Given the description of an element on the screen output the (x, y) to click on. 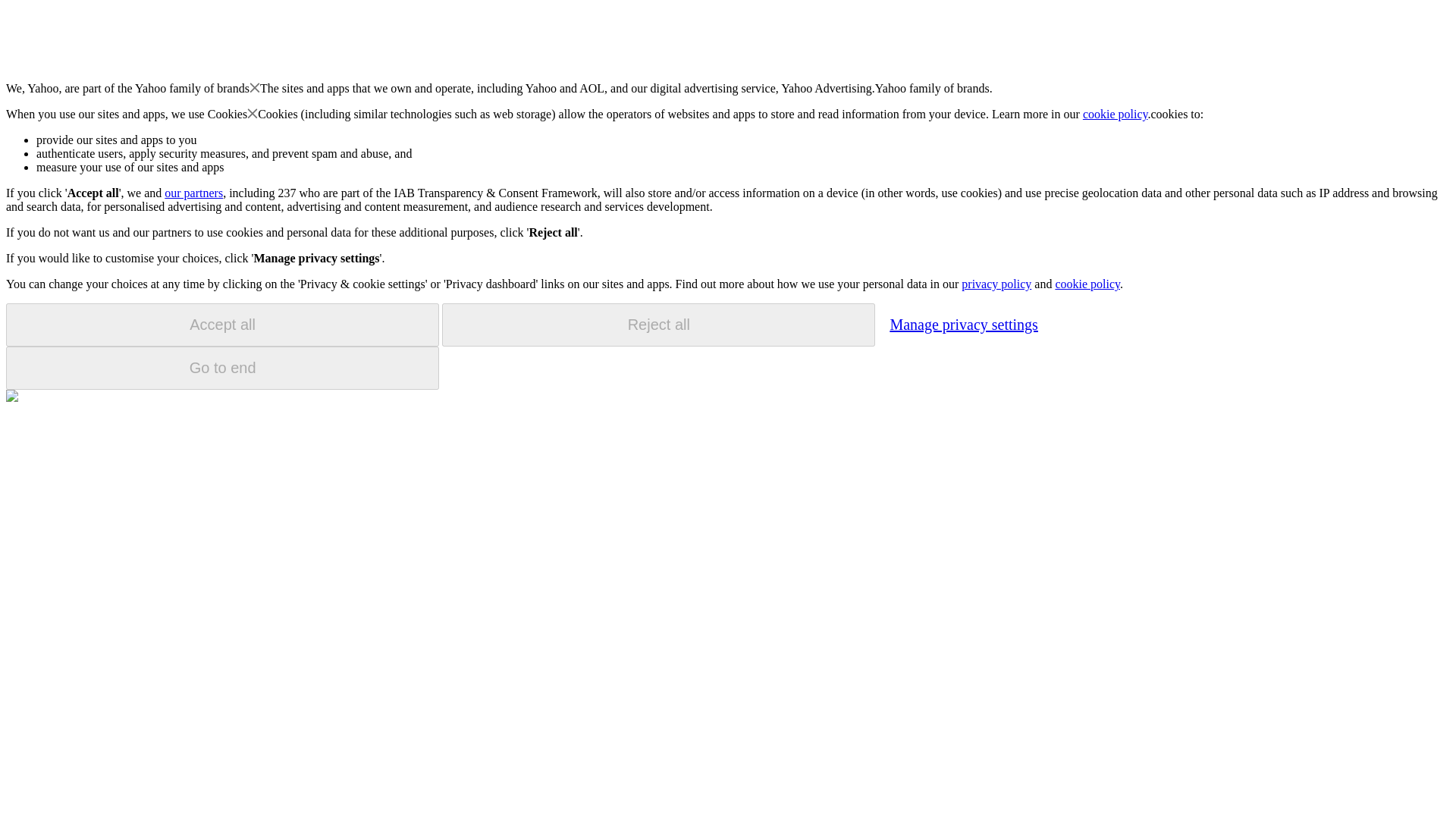
Reject all (658, 324)
privacy policy (995, 283)
Accept all (222, 324)
our partners (193, 192)
cookie policy (1086, 283)
Go to end (222, 367)
cookie policy (1115, 113)
Manage privacy settings (963, 323)
